Given the description of an element on the screen output the (x, y) to click on. 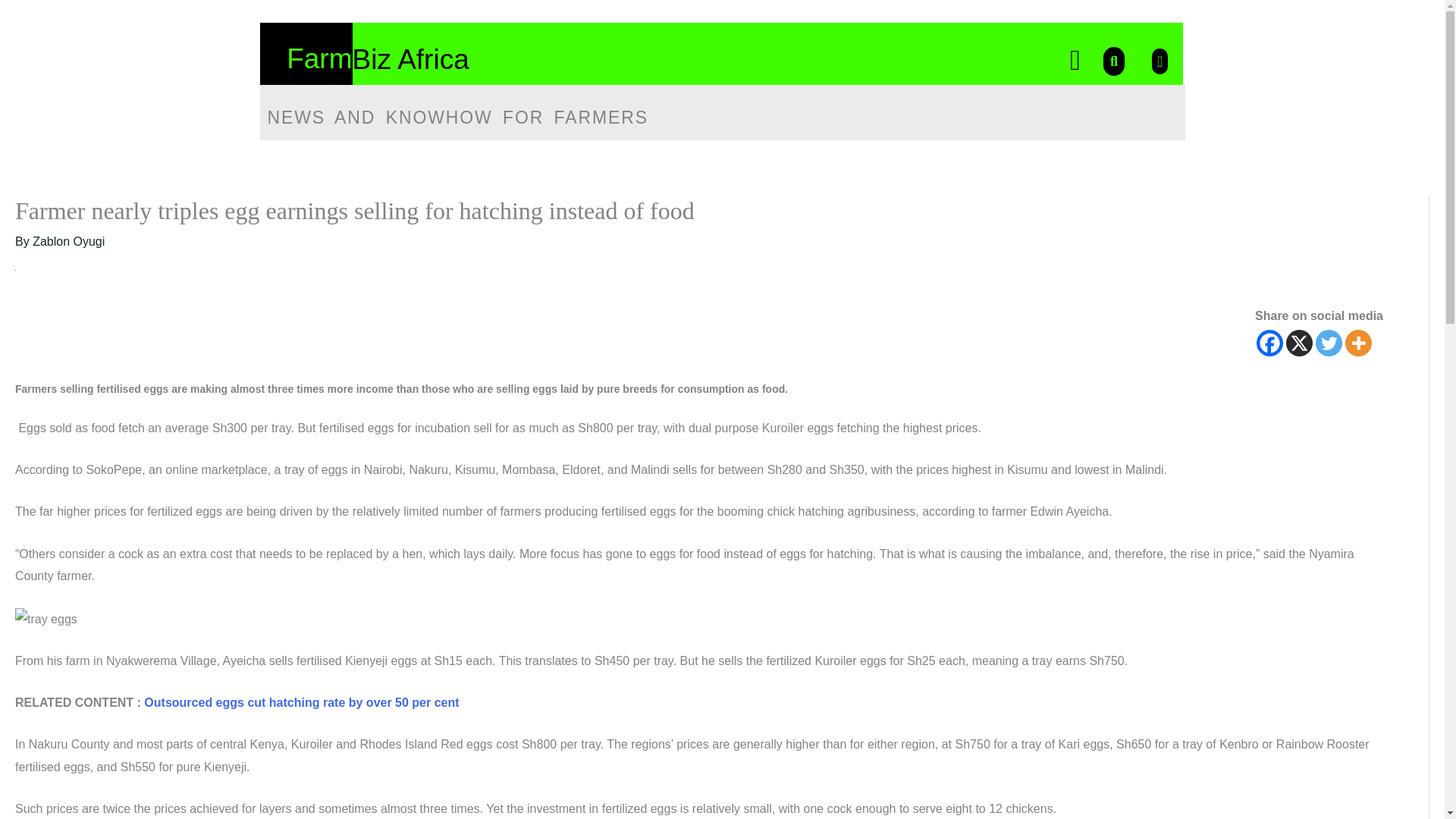
Facebook (1269, 343)
View all posts by Zablon Oyugi (68, 241)
Twitter (1329, 343)
Zablon Oyugi (68, 241)
Biz Africa (410, 59)
More (1358, 343)
Farm (319, 58)
Outsourced eggs cut hatching rate by over 50 per cent (301, 702)
X (1299, 343)
